Given the description of an element on the screen output the (x, y) to click on. 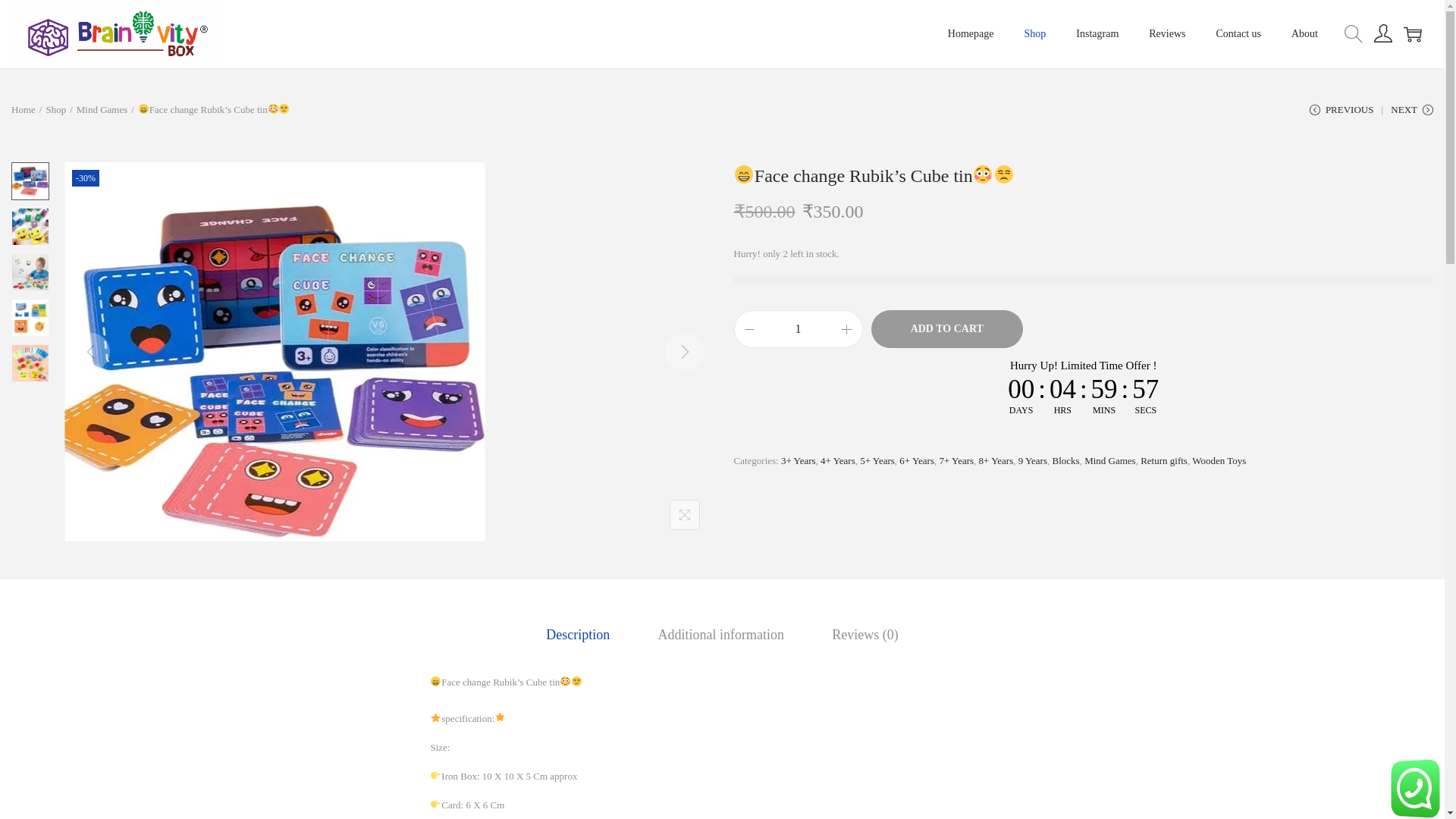
NEXT (1411, 115)
Shop (55, 109)
Home (22, 109)
Mind Games (102, 109)
PREVIOUS (1341, 115)
1 (797, 328)
